Given the description of an element on the screen output the (x, y) to click on. 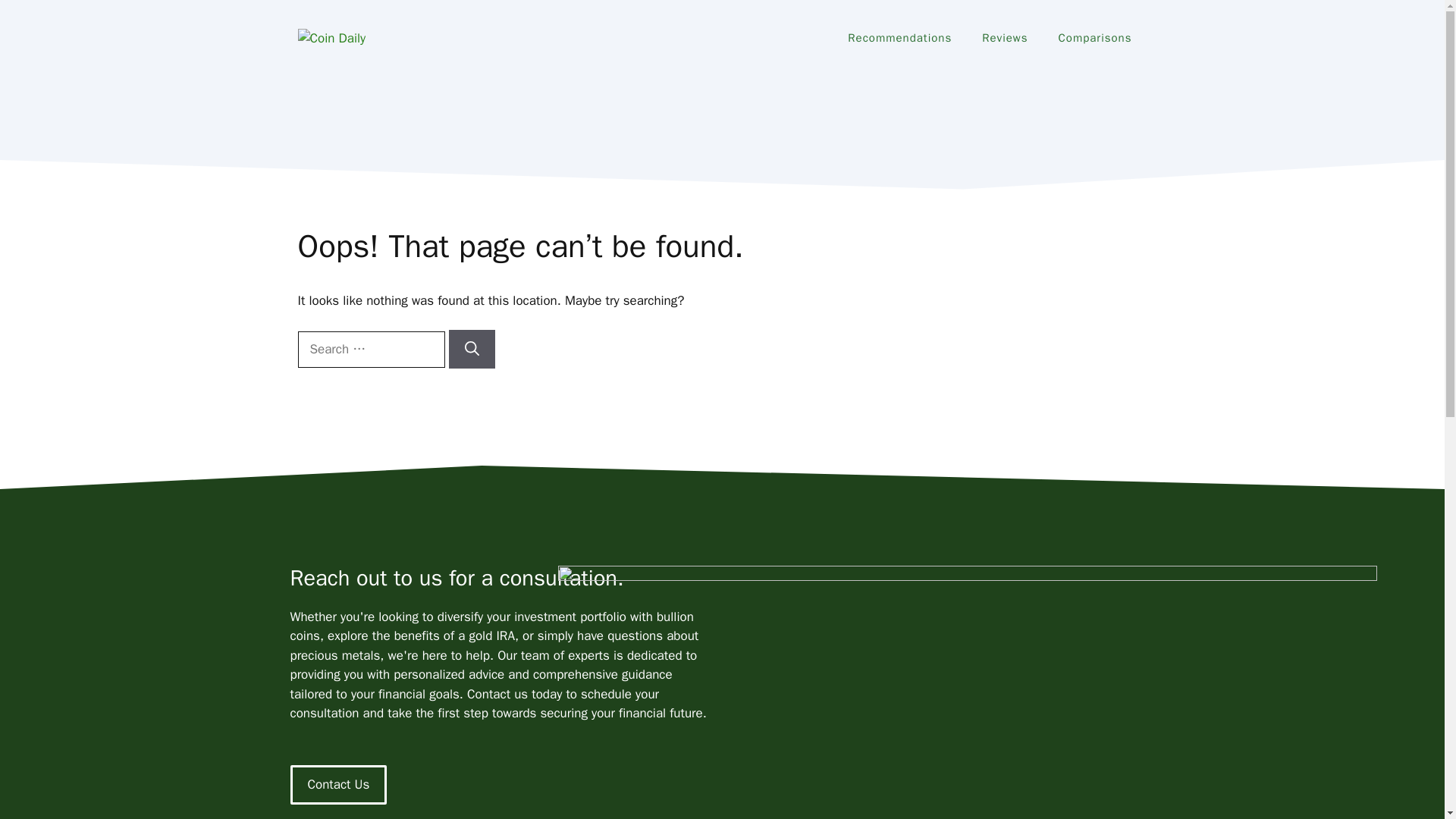
Reviews (1004, 37)
Recommendations (899, 37)
Contact Us (338, 784)
Comparisons (1095, 37)
Search for: (370, 349)
